Given the description of an element on the screen output the (x, y) to click on. 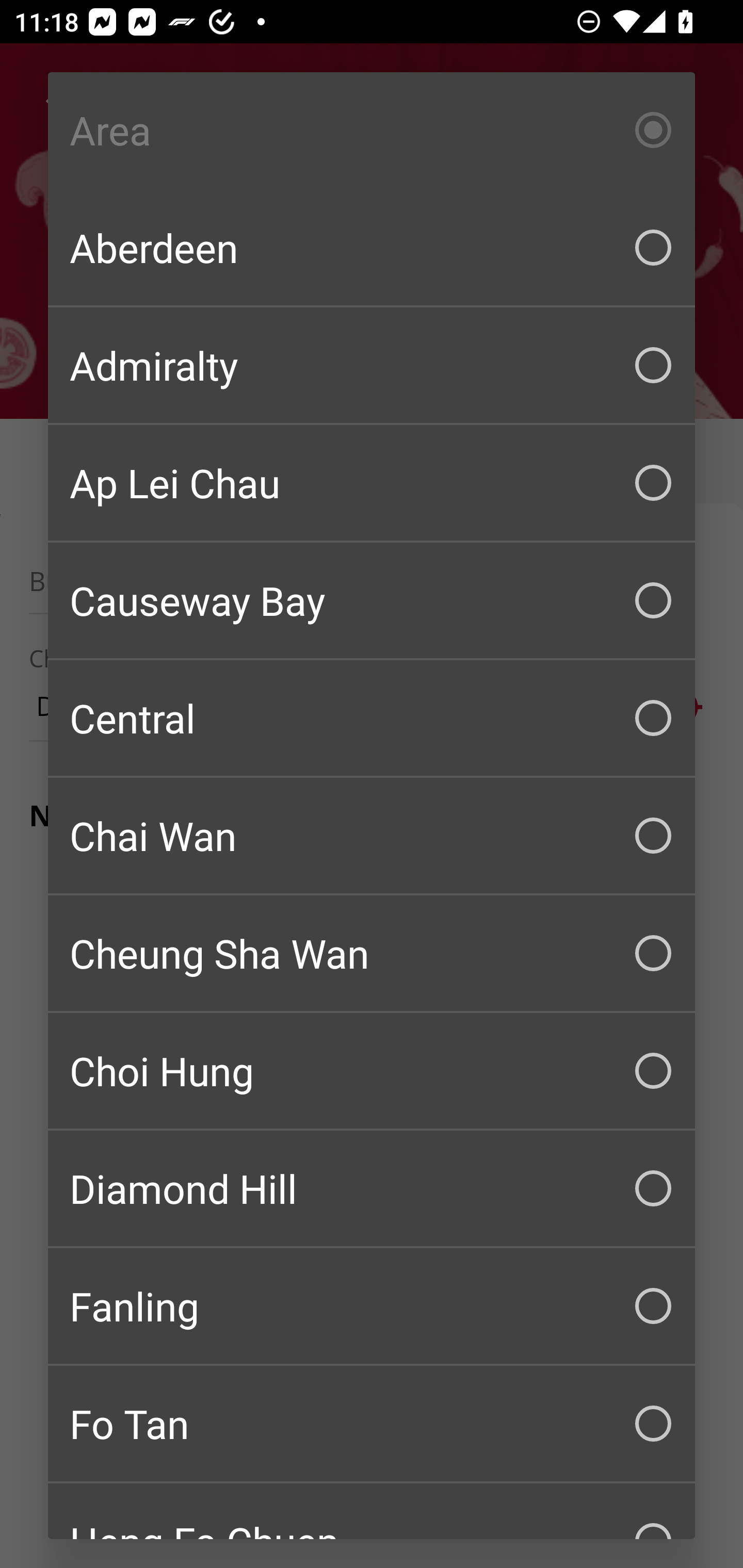
Aberdeen (371, 247)
Admiralty (371, 365)
Ap Lei Chau (371, 482)
Causeway Bay (371, 600)
Central (371, 718)
Chai Wan (371, 835)
Cheung Sha Wan (371, 953)
Choi Hung (371, 1070)
Diamond Hill (371, 1188)
Fanling (371, 1306)
Fo Tan (371, 1423)
